Given the description of an element on the screen output the (x, y) to click on. 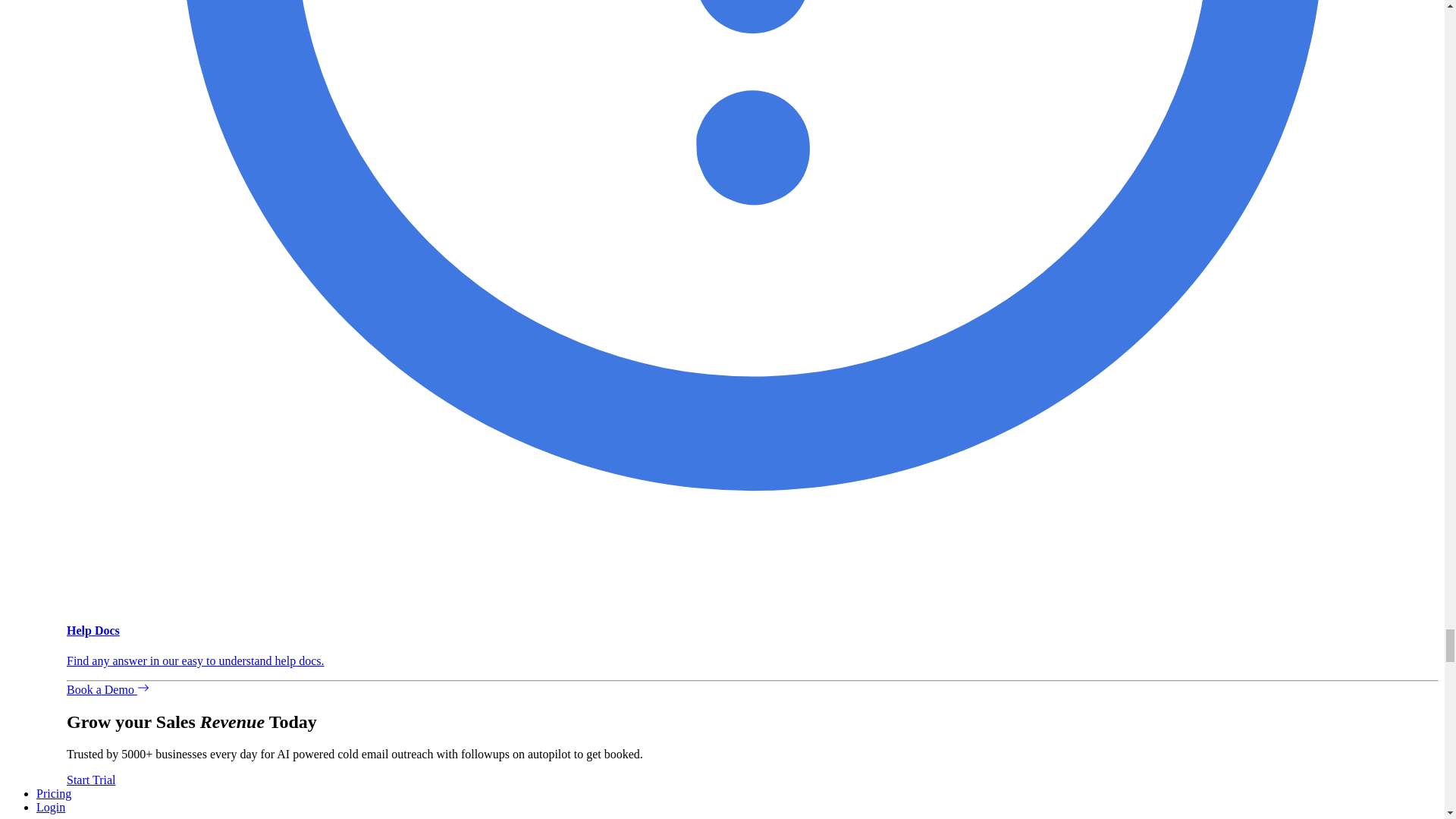
Login (50, 807)
Pricing (53, 793)
Book a Demo (107, 689)
Start Trial (90, 779)
